Given the description of an element on the screen output the (x, y) to click on. 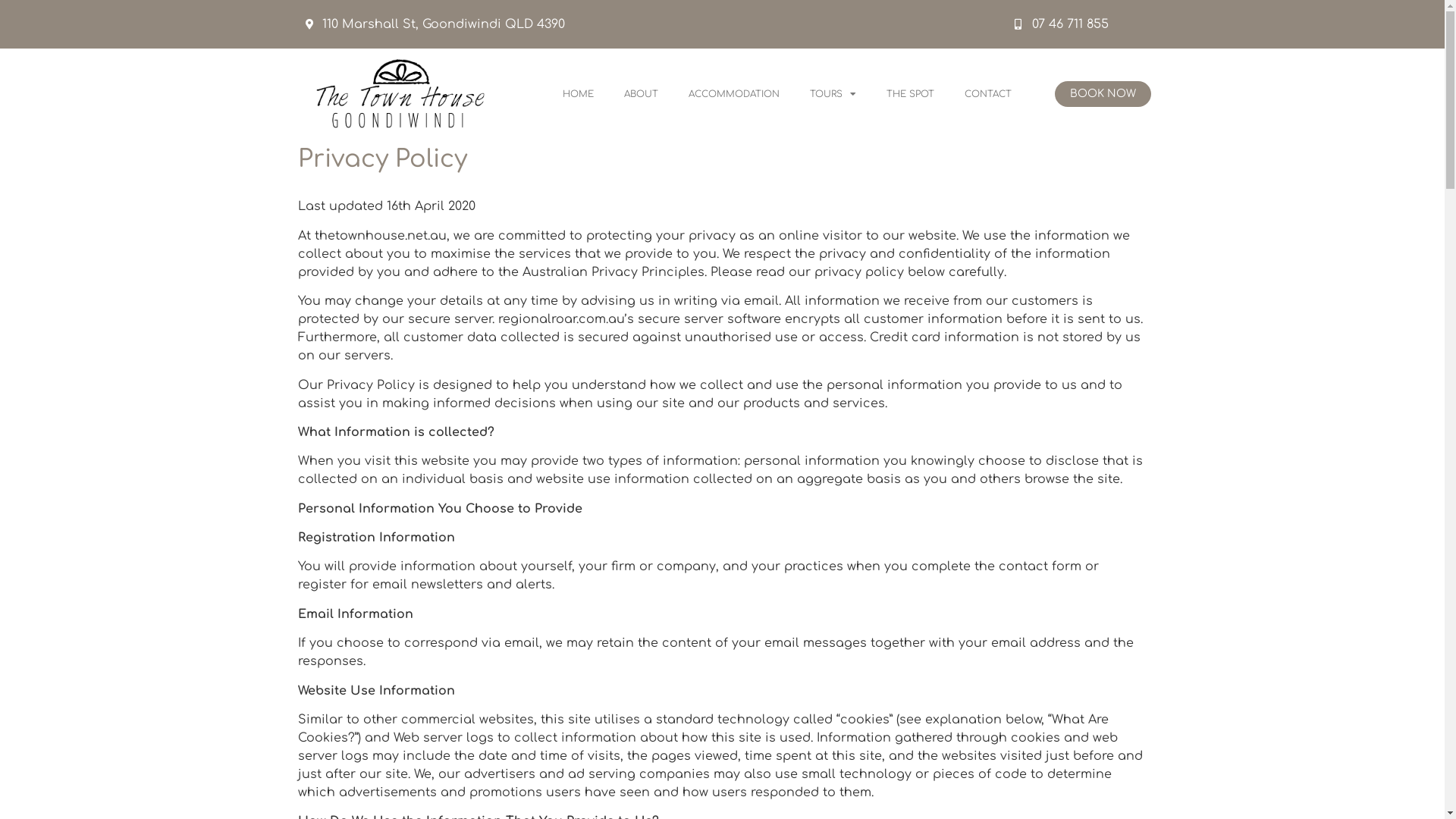
THE SPOT Element type: text (910, 93)
BOOK NOW Element type: text (1102, 93)
TOURS Element type: text (832, 93)
110 Marshall St, Goondiwindi QLD 4390 Element type: text (651, 24)
HOME Element type: text (577, 93)
ABOUT Element type: text (640, 93)
CONTACT Element type: text (987, 93)
ACCOMMODATION Element type: text (733, 93)
07 46 711 855 Element type: text (1079, 24)
